Given the description of an element on the screen output the (x, y) to click on. 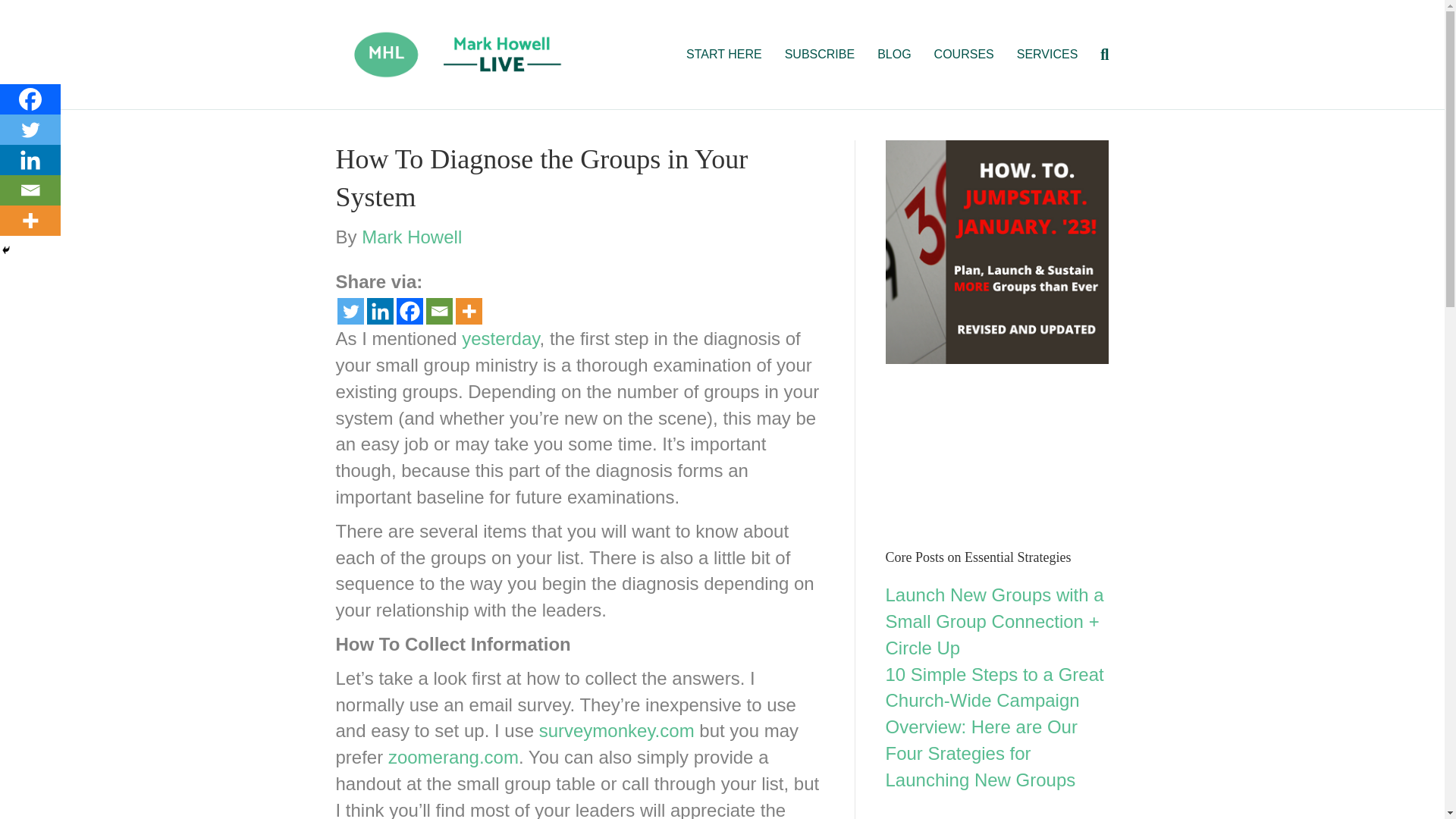
zoomerang.com (453, 756)
More (30, 220)
START HERE (724, 54)
Facebook (409, 311)
Twitter (349, 311)
Linkedin (379, 311)
surveymonkey.com (616, 730)
Linkedin (30, 159)
SUBSCRIBE (819, 54)
Email (30, 190)
